Given the description of an element on the screen output the (x, y) to click on. 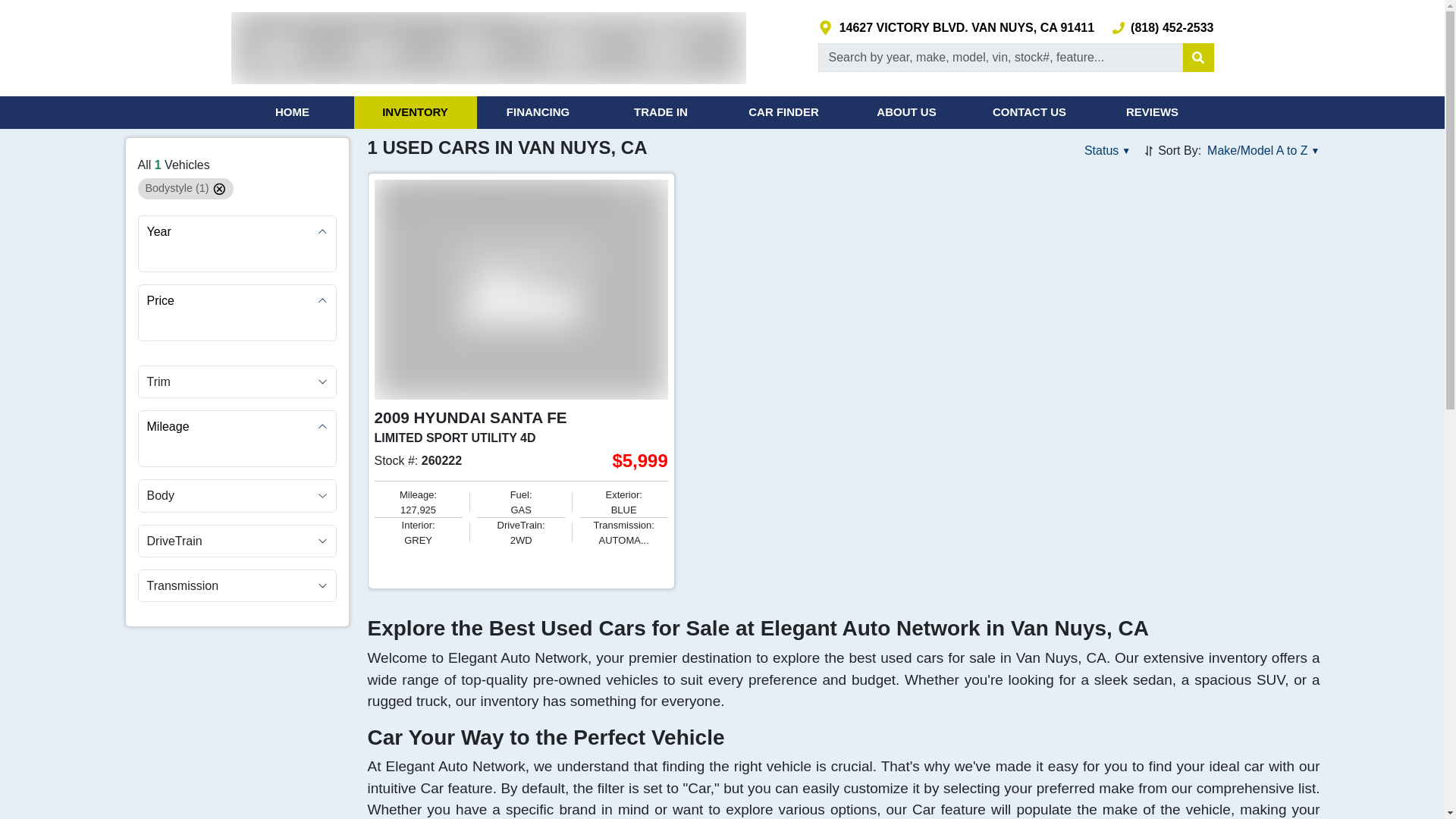
14627 VICTORY BLVD. VAN NUYS, CA 91411 (956, 27)
ABOUT US (906, 112)
REVIEWS (1151, 112)
SUV (177, 188)
Mileage (236, 426)
FINANCING (537, 112)
Trim (236, 381)
CONTACT US (1029, 112)
Show me the Carfax (418, 564)
CAR FINDER (783, 112)
INVENTORY (414, 112)
HOME (291, 112)
Year (236, 231)
Price (236, 300)
Transmission (236, 585)
